Given the description of an element on the screen output the (x, y) to click on. 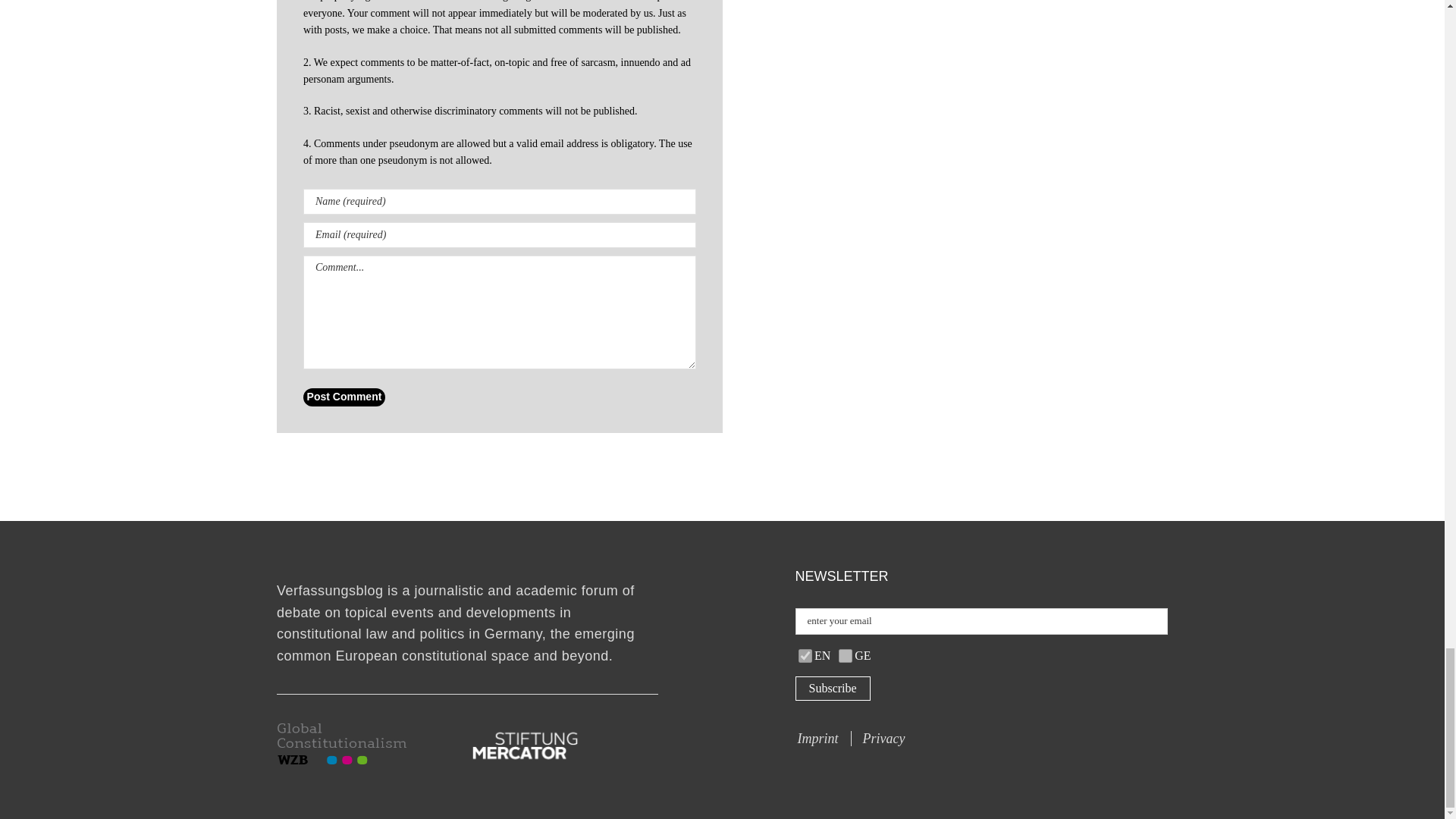
1 (844, 655)
Subscribe (831, 688)
2 (804, 655)
Post Comment (343, 397)
